Given the description of an element on the screen output the (x, y) to click on. 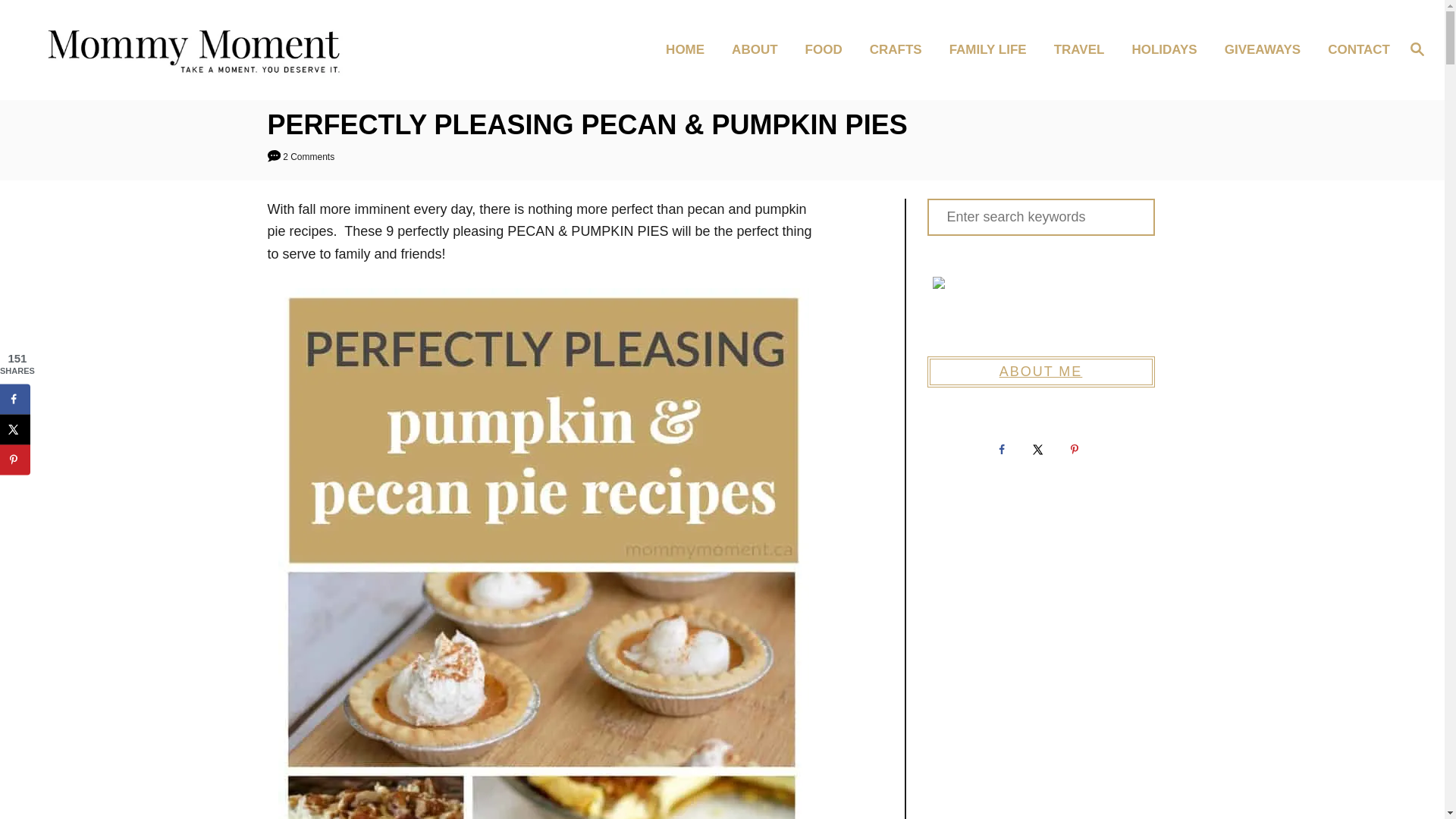
Search for: (1040, 217)
FOOD (828, 49)
FAMILY LIFE (992, 49)
Share on Facebook (15, 399)
HOME (689, 49)
Magnifying Glass (1416, 48)
Follow on Pinterest (1076, 449)
Share on X (15, 429)
CRAFTS (900, 49)
HOLIDAYS (1168, 49)
